Given the description of an element on the screen output the (x, y) to click on. 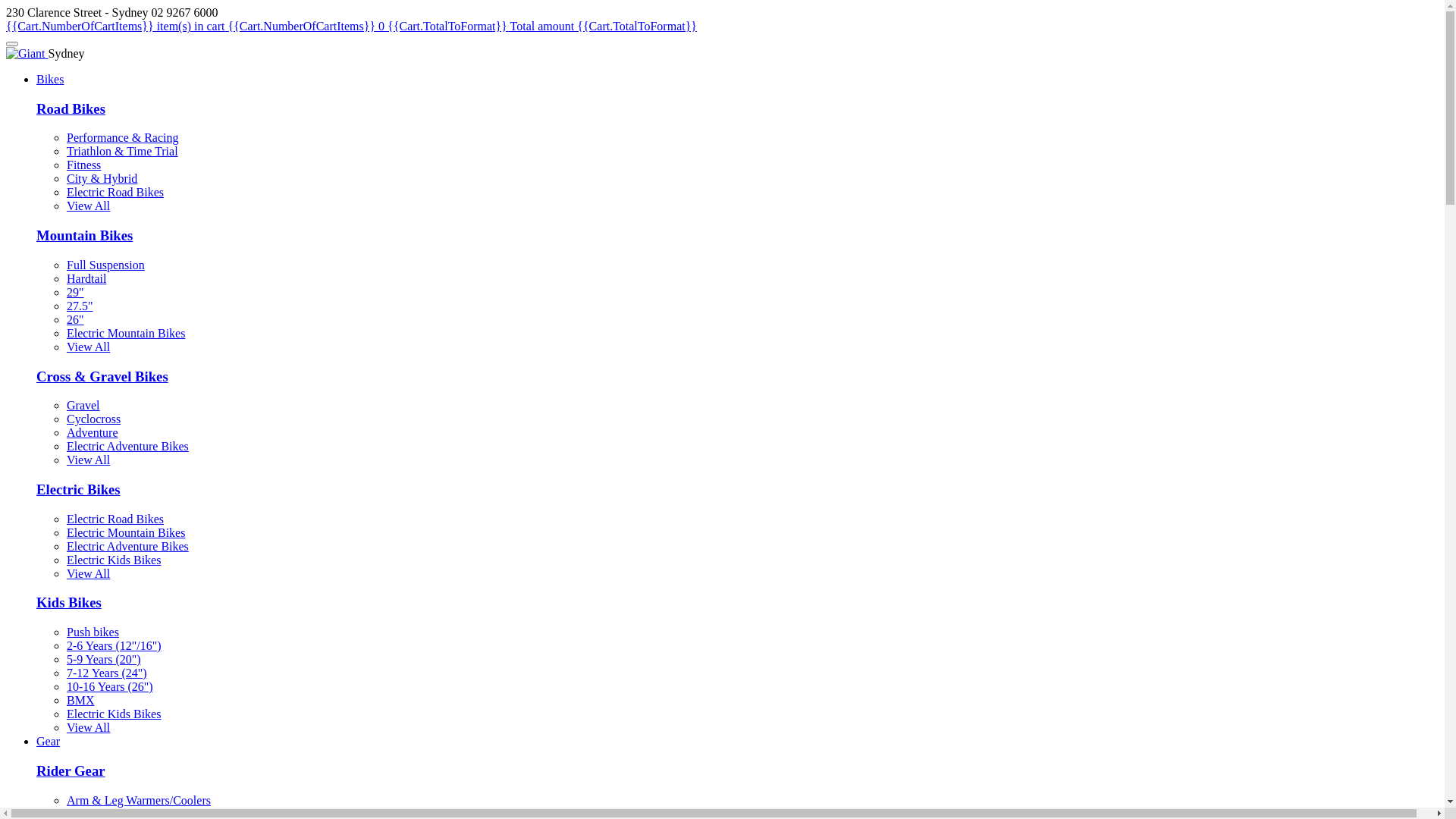
29" Element type: text (75, 291)
27.5" Element type: text (79, 305)
Cyclocross Element type: text (93, 418)
View All Element type: text (87, 205)
View All Element type: text (87, 727)
Full Suspension Element type: text (105, 264)
Electric Adventure Bikes Element type: text (127, 545)
Kids Bikes Element type: text (68, 602)
City & Hybrid Element type: text (101, 178)
Adventure Element type: text (92, 432)
Rider Gear Element type: text (70, 770)
BMX Element type: text (80, 699)
Gravel Element type: text (83, 404)
Cross & Gravel Bikes Element type: text (102, 376)
Electric Road Bikes Element type: text (114, 191)
Electric Road Bikes Element type: text (114, 518)
2-6 Years (12"/16") Element type: text (113, 645)
5-9 Years (20") Element type: text (103, 658)
View All Element type: text (87, 573)
Mountain Bikes Element type: text (84, 235)
Triathlon & Time Trial Element type: text (122, 150)
Performance & Racing Element type: text (122, 137)
Electric Adventure Bikes Element type: text (127, 445)
Arm & Leg Warmers/Coolers Element type: text (138, 799)
Electric Bikes Element type: text (78, 489)
View All Element type: text (87, 459)
Road Bikes Element type: text (70, 108)
26" Element type: text (75, 319)
7-12 Years (24") Element type: text (106, 672)
Electric Kids Bikes Element type: text (113, 713)
Gear Element type: text (47, 740)
Push bikes Element type: text (92, 631)
Electric Mountain Bikes Element type: text (125, 532)
Fitness Element type: text (83, 164)
View All Element type: text (87, 346)
Hardtail Element type: text (86, 278)
10-16 Years (26") Element type: text (109, 686)
Electric Kids Bikes Element type: text (113, 559)
Electric Mountain Bikes Element type: text (125, 332)
Bikes Element type: text (49, 78)
